Given the description of an element on the screen output the (x, y) to click on. 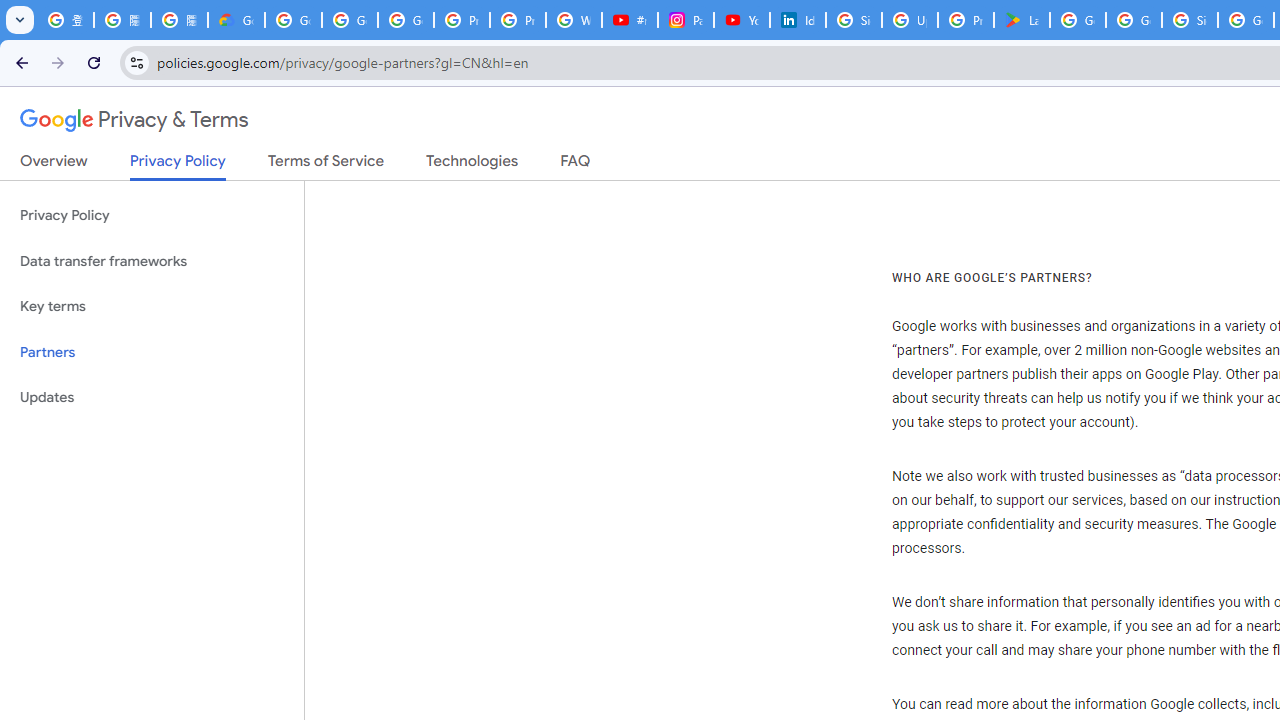
#nbabasketballhighlights - YouTube (629, 20)
Updates (152, 398)
Identity verification via Persona | LinkedIn Help (797, 20)
Terms of Service (326, 165)
YouTube Culture & Trends - On The Rise: Handcam Videos (742, 20)
Privacy & Terms (134, 120)
